Given the description of an element on the screen output the (x, y) to click on. 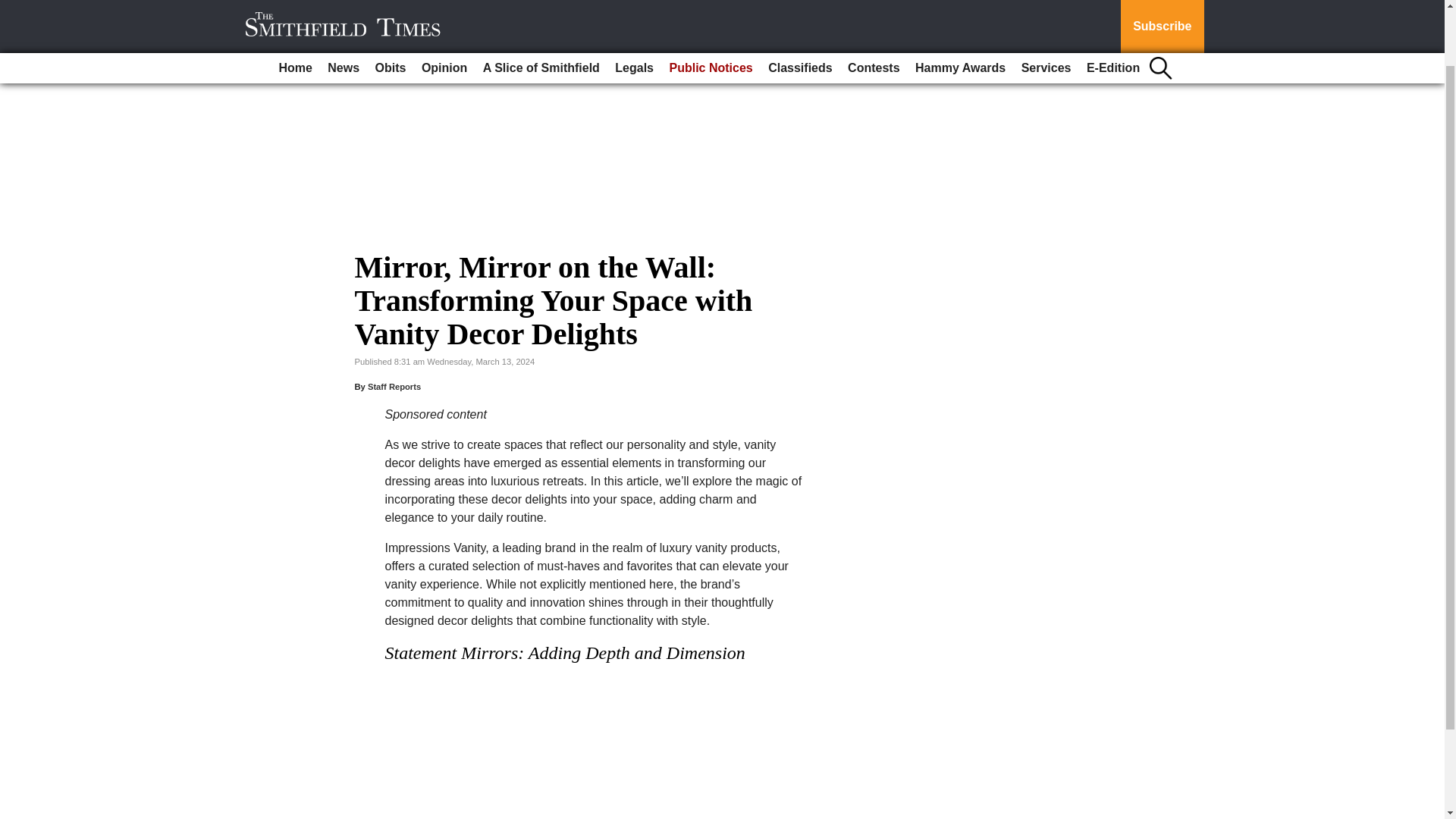
Hammy Awards (959, 7)
Opinion (443, 7)
Public Notices (710, 7)
A Slice of Smithfield (541, 7)
Contests (873, 7)
Classifieds (799, 7)
News (343, 7)
Legals (633, 7)
Obits (390, 7)
Services (1045, 7)
